Given the description of an element on the screen output the (x, y) to click on. 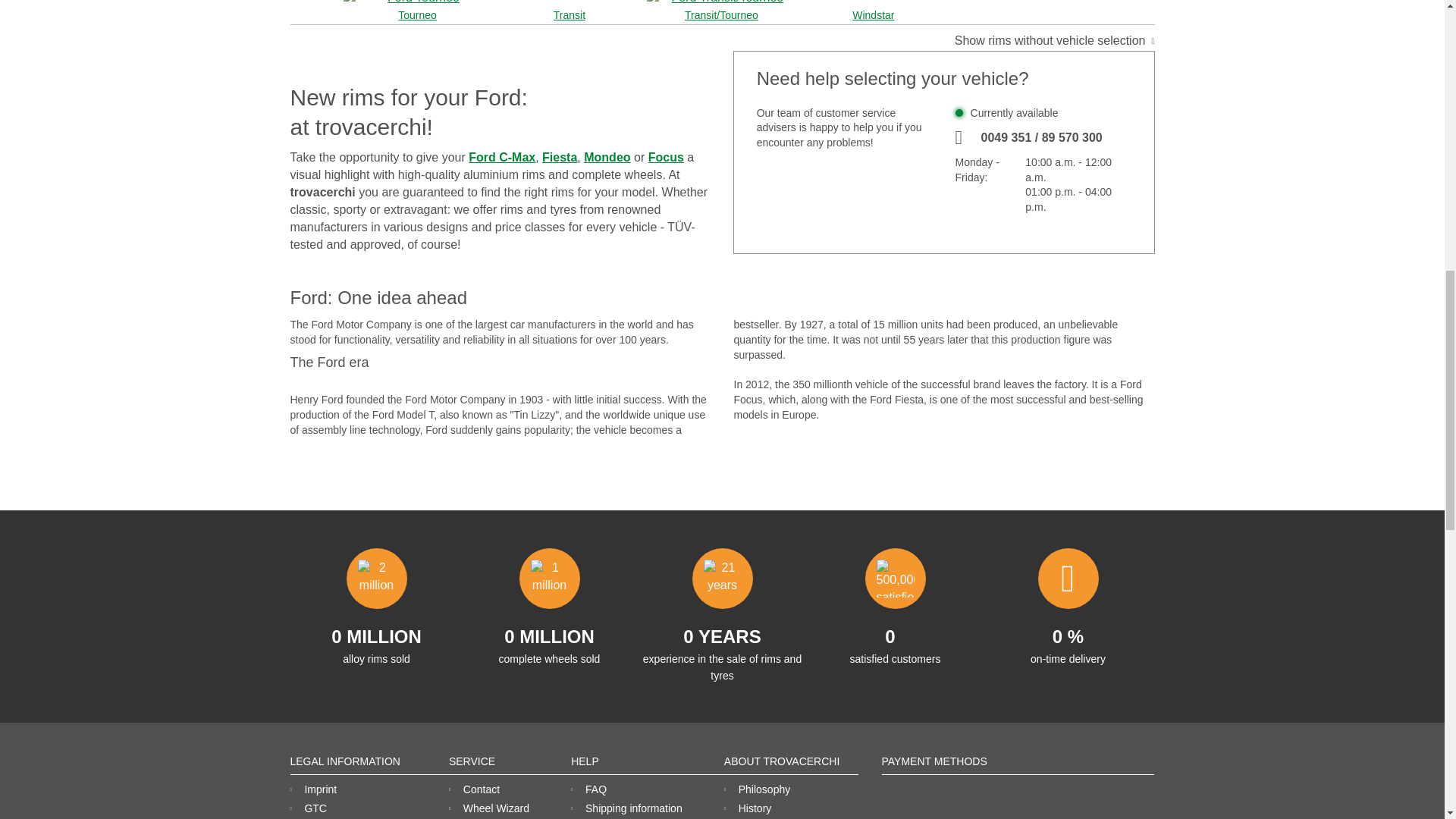
Transit (569, 10)
Show rims without vehicle selection (1054, 40)
Windstar (873, 10)
Ford C-Max (501, 156)
Tourneo (417, 10)
